Given the description of an element on the screen output the (x, y) to click on. 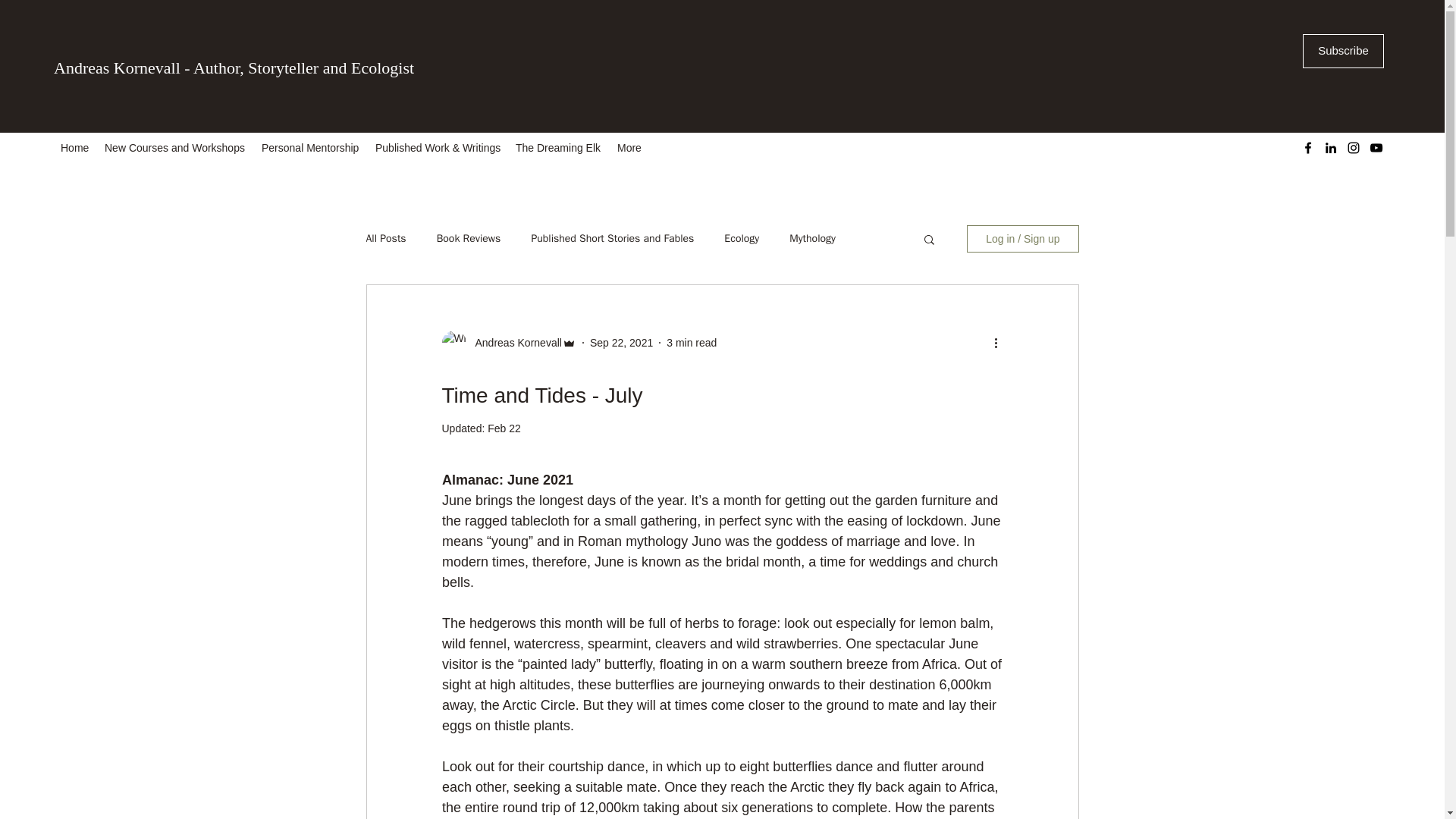
All Posts (385, 238)
Sep 22, 2021 (620, 342)
Feb 22 (504, 428)
Book Reviews (468, 238)
Personal Mentorship (310, 147)
Subscribe (1343, 50)
Ecology (740, 238)
New Courses and Workshops (175, 147)
Mythology (812, 238)
The Dreaming Elk (559, 147)
